Given the description of an element on the screen output the (x, y) to click on. 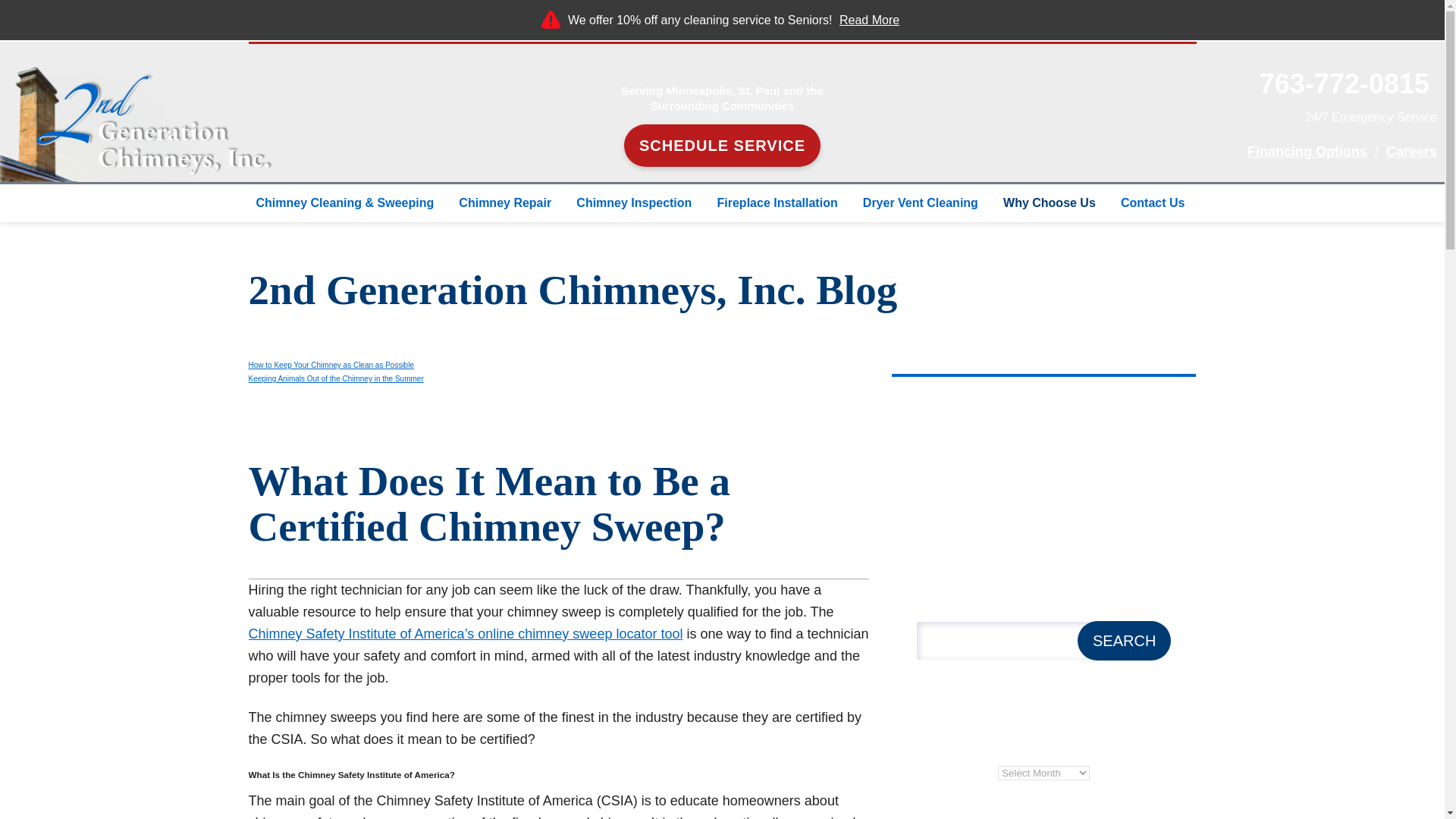
Chimney Repair (506, 202)
Chimney Inspection (636, 202)
763-772-0815 (1344, 83)
SCHEDULE SERVICE (722, 145)
Read More (868, 19)
Careers (1411, 151)
Financing Options (1307, 151)
